Given the description of an element on the screen output the (x, y) to click on. 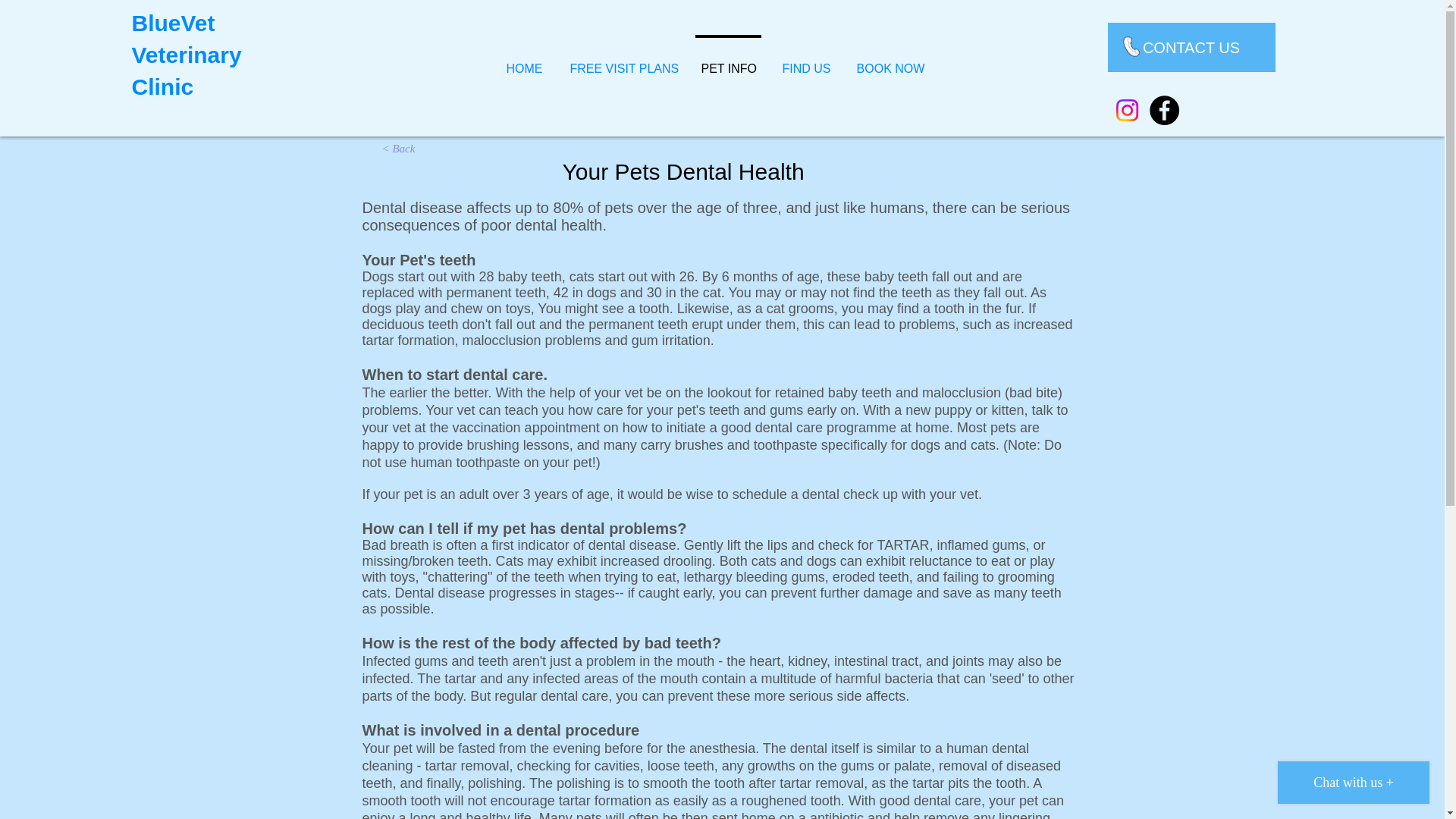
PET INFO (727, 61)
CONTACT US (1190, 47)
FIND US (805, 61)
FREE VISIT PLANS (621, 61)
HOME (524, 61)
BOOK NOW (891, 61)
